Given the description of an element on the screen output the (x, y) to click on. 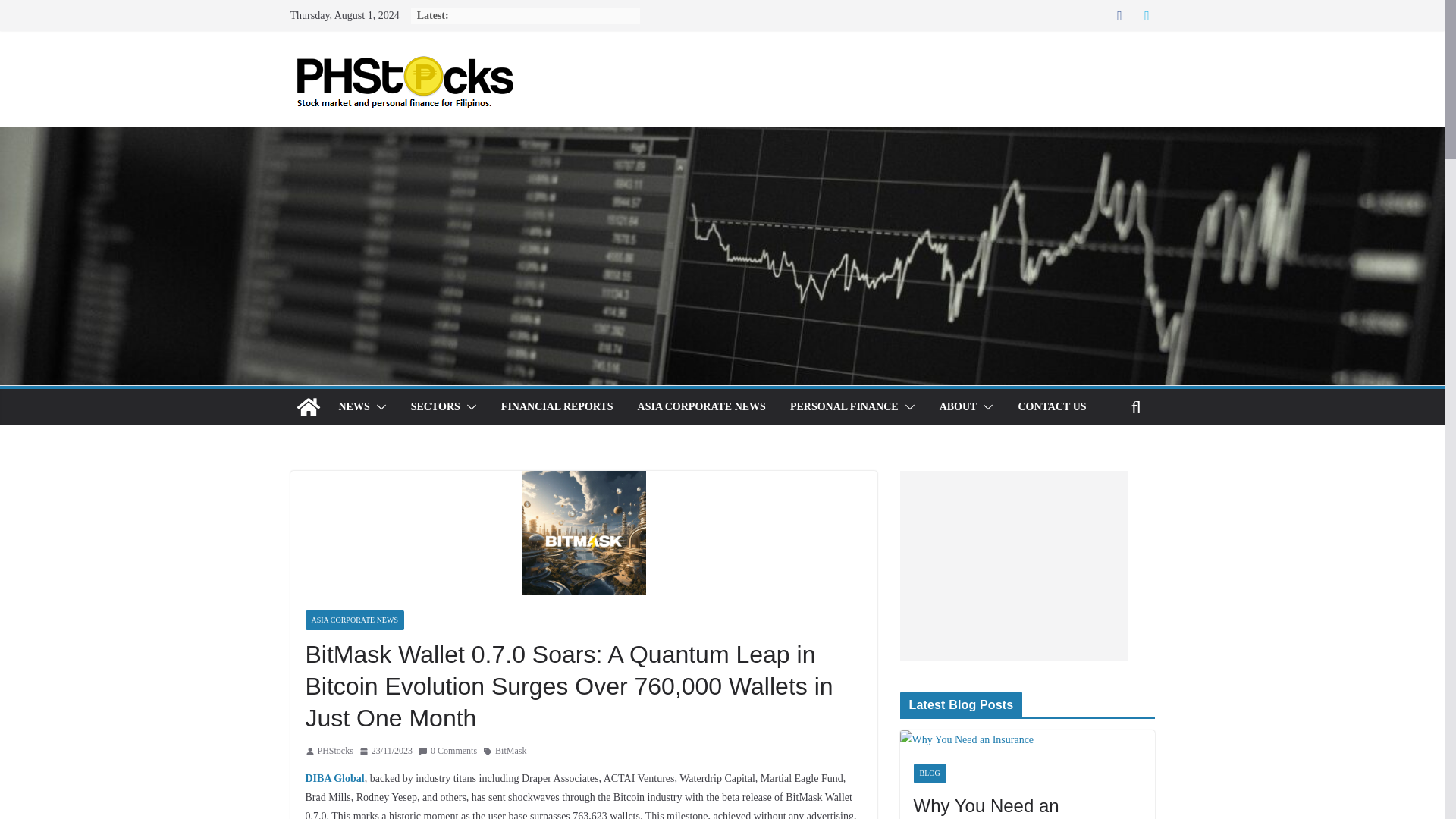
DIBA Global (334, 778)
PHStocks (334, 751)
BitMask (510, 751)
11:53 PM (385, 751)
Why You Need an Insurance (966, 739)
ASIA CORPORATE NEWS (701, 406)
ABOUT (957, 406)
SECTORS (435, 406)
NEWS (353, 406)
0 Comments (448, 751)
PERSONAL FINANCE (844, 406)
PHStocks (307, 407)
Why You Need an Insurance (966, 739)
PHStocks (334, 751)
FINANCIAL REPORTS (556, 406)
